Given the description of an element on the screen output the (x, y) to click on. 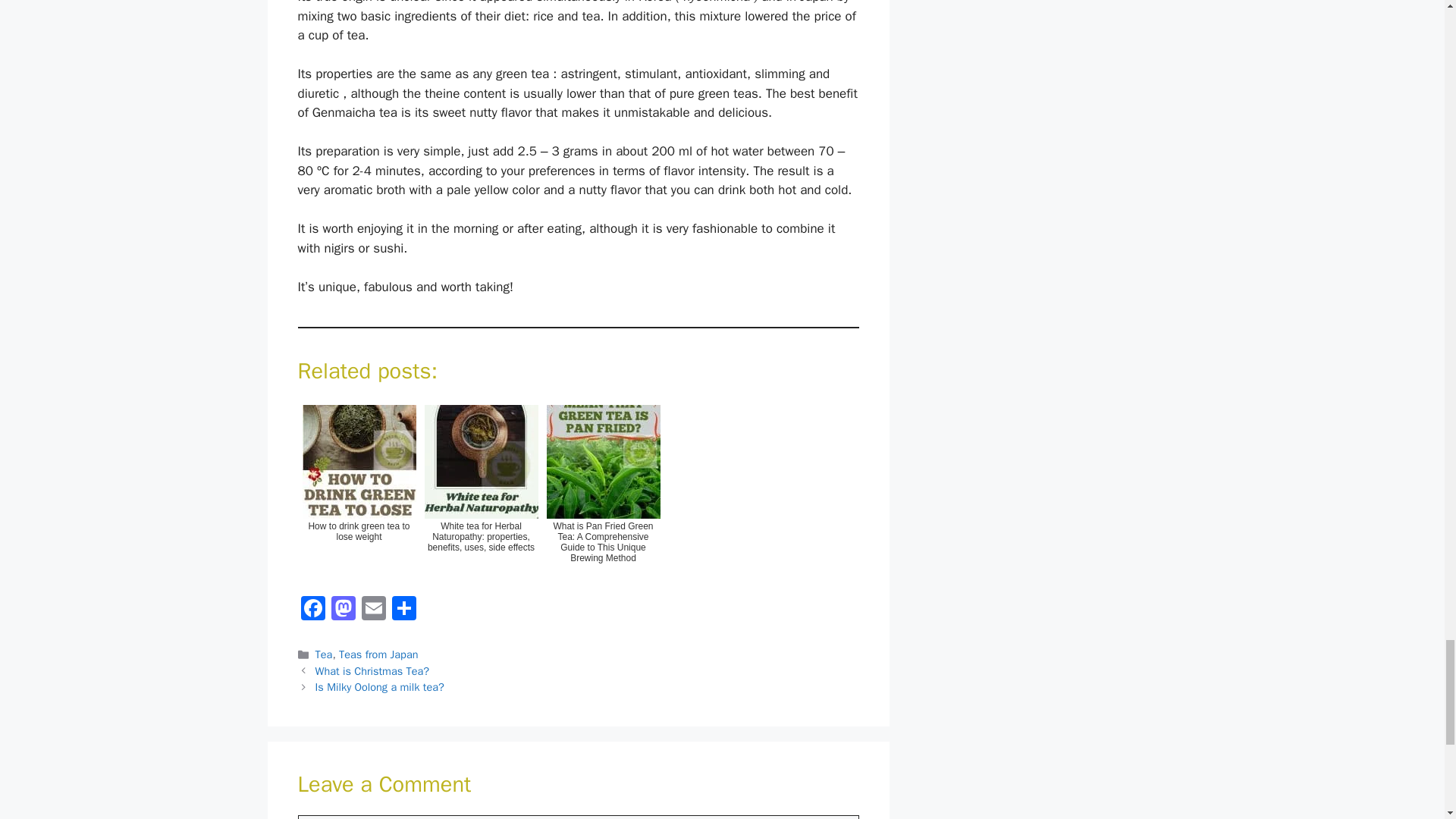
Mastodon (342, 610)
Facebook (312, 610)
Email (373, 610)
Tea (324, 653)
Facebook (312, 610)
Mastodon (342, 610)
Is Milky Oolong a milk tea? (379, 686)
Teas from Japan (378, 653)
Email (373, 610)
What is Christmas Tea? (372, 671)
